Given the description of an element on the screen output the (x, y) to click on. 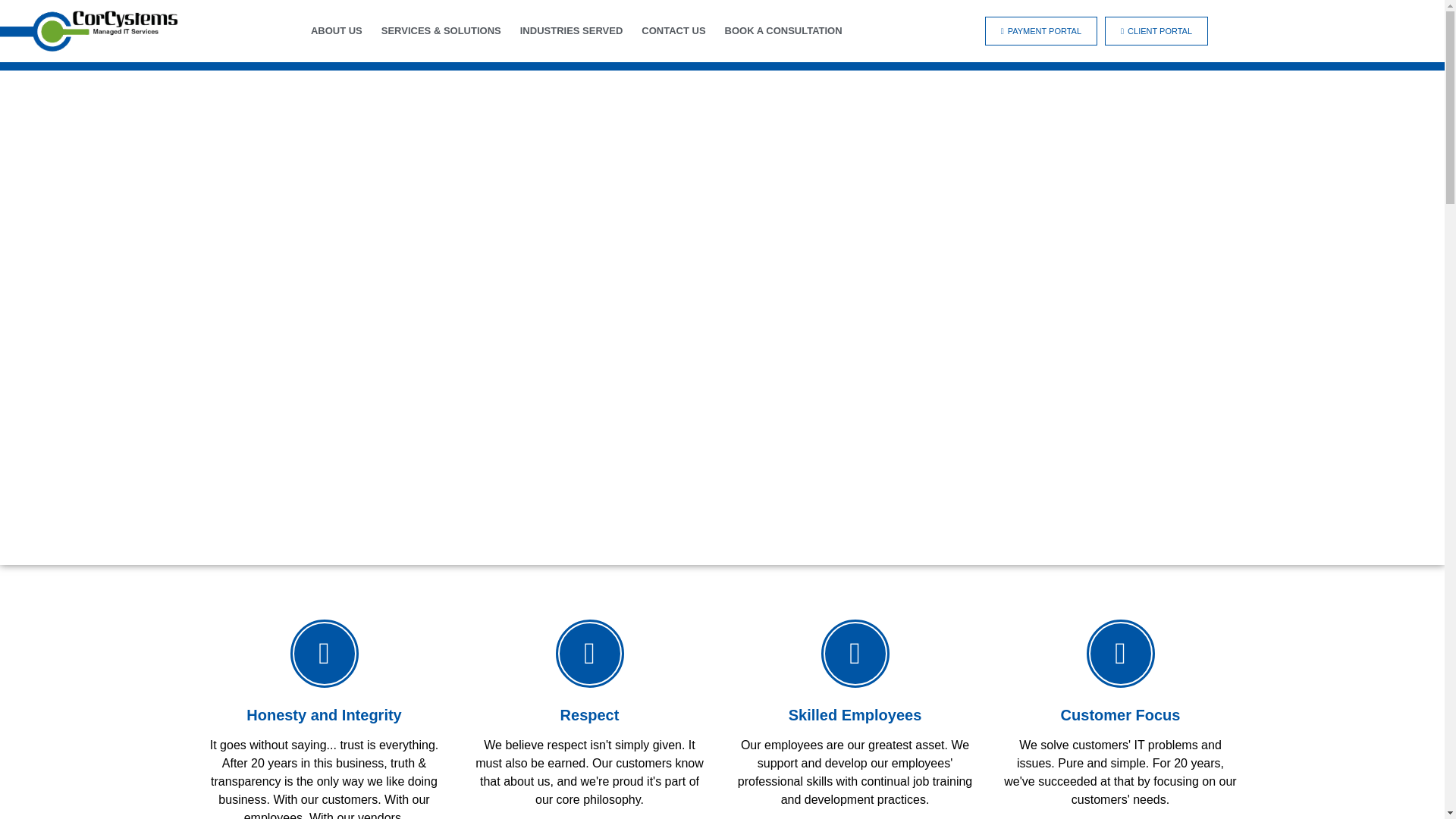
INDUSTRIES SERVED (571, 30)
ABOUT US (336, 30)
BOOK A CONSULTATION (784, 30)
CONTACT US (673, 30)
